Given the description of an element on the screen output the (x, y) to click on. 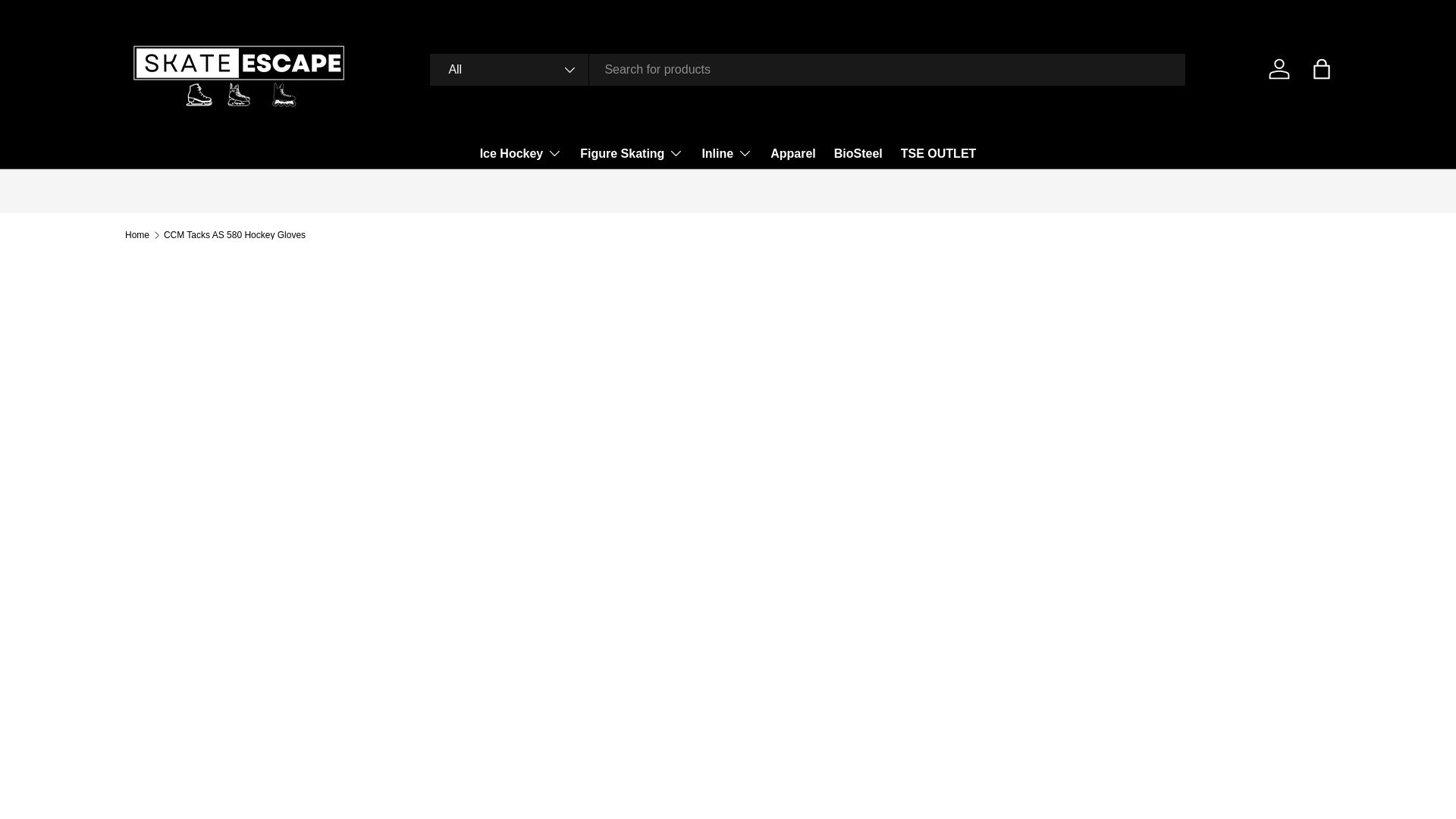
SKIP TO CONTENT (68, 21)
Log in (1278, 68)
Ice Hockey (521, 153)
All (509, 69)
Bag (1321, 68)
